Given the description of an element on the screen output the (x, y) to click on. 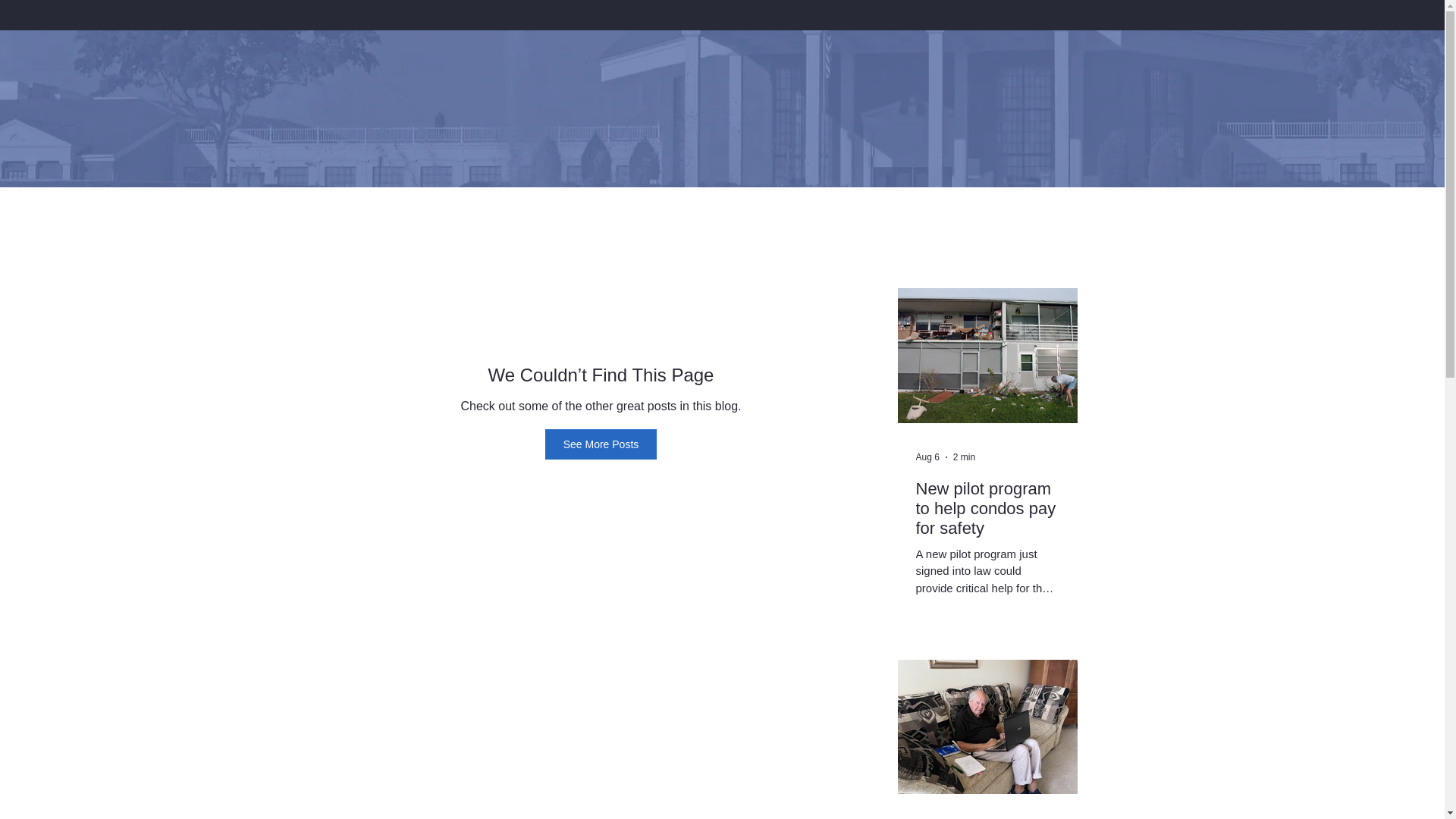
Aug 6 (927, 457)
New pilot program to help condos pay for safety (987, 508)
See More Posts (601, 444)
2 min (964, 457)
